Given the description of an element on the screen output the (x, y) to click on. 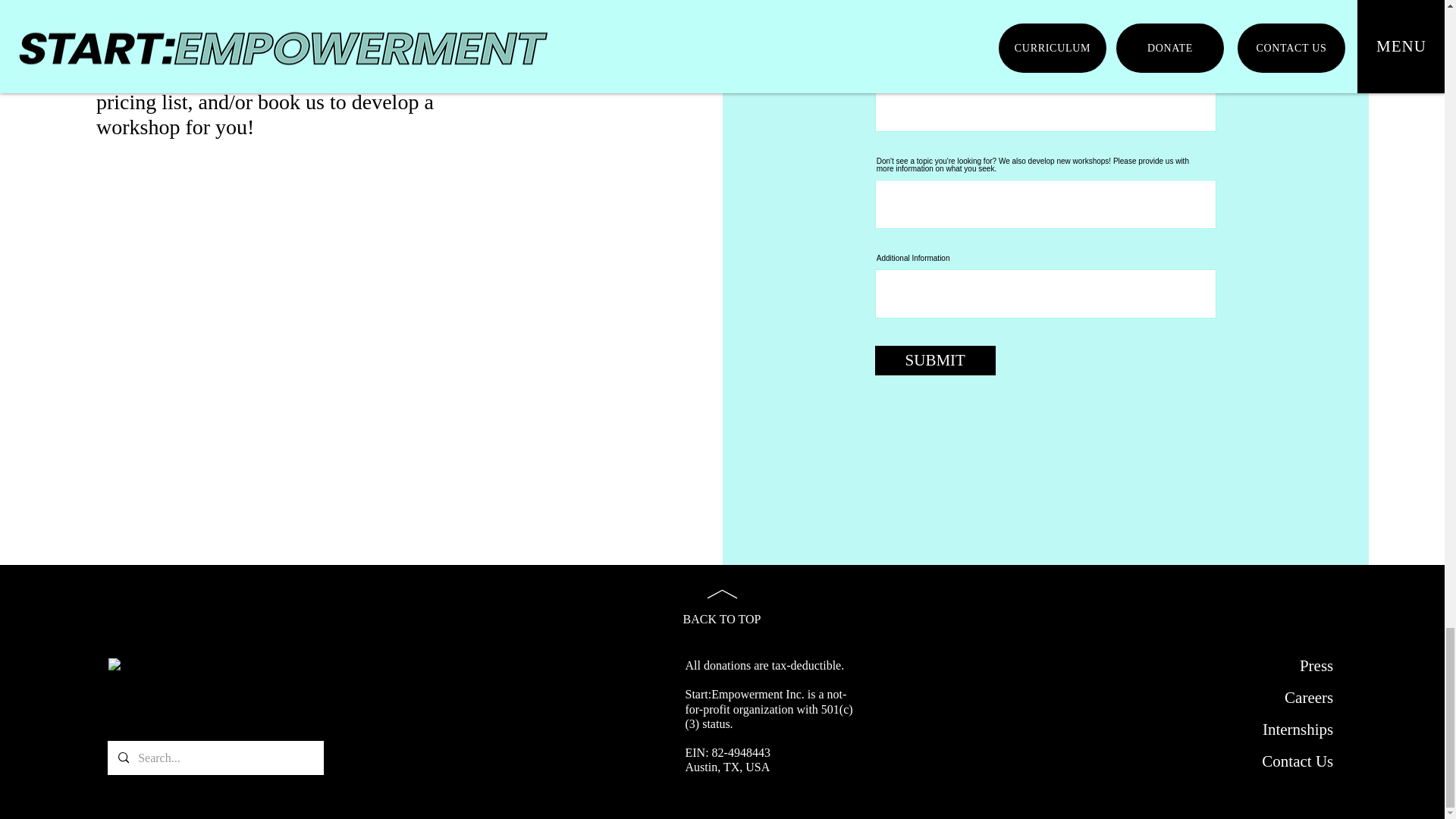
Contact Us (1297, 761)
SUBMIT (935, 360)
Careers (1308, 697)
Internships (1297, 729)
BACK TO TOP (720, 600)
Press (1316, 665)
